Given the description of an element on the screen output the (x, y) to click on. 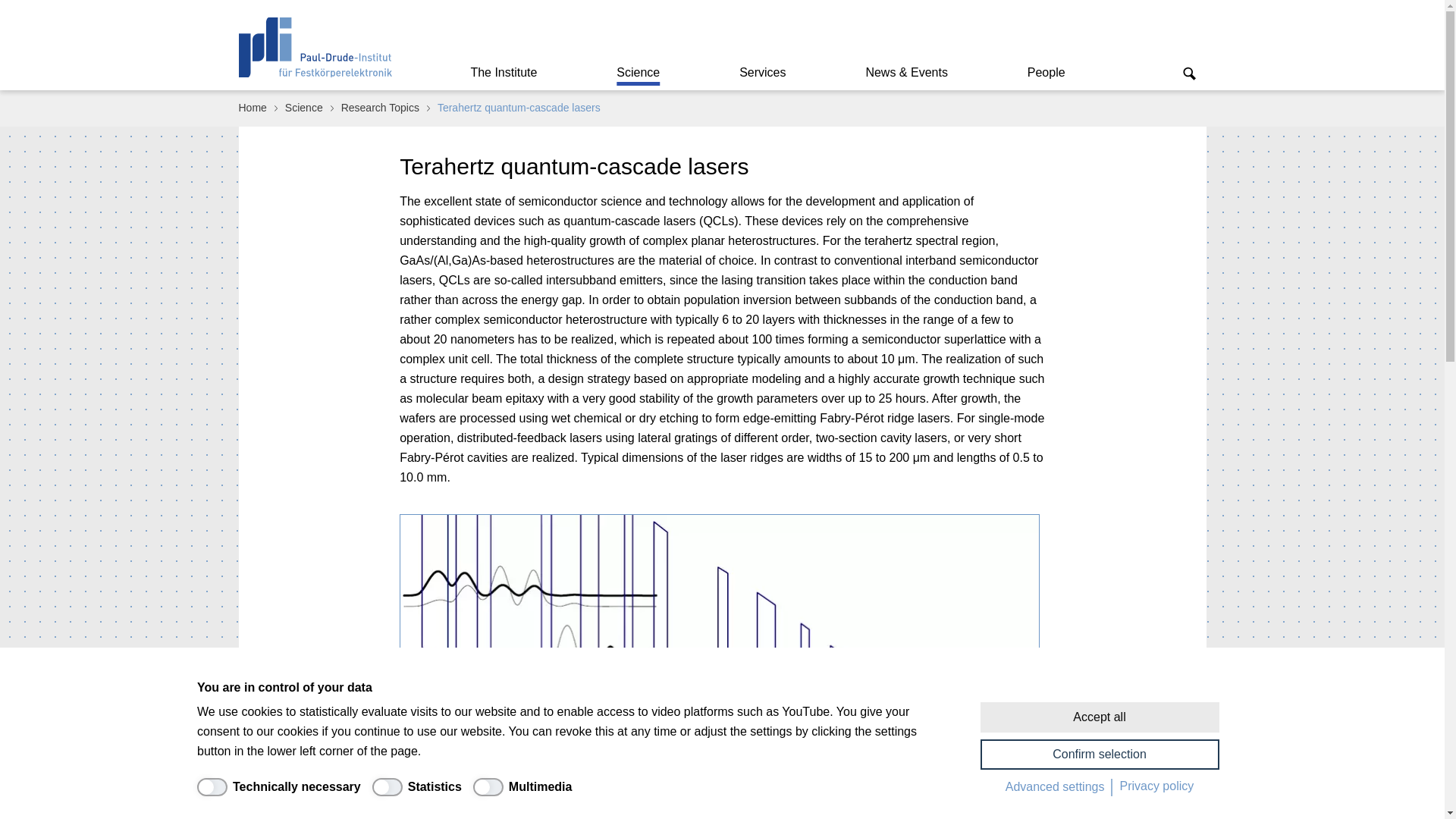
Science (638, 72)
The Institute (502, 72)
Home (251, 107)
Science (638, 72)
The Institute (502, 72)
Services (761, 72)
People (1046, 72)
Services (761, 72)
Research Topics (379, 107)
Science (303, 107)
